Given the description of an element on the screen output the (x, y) to click on. 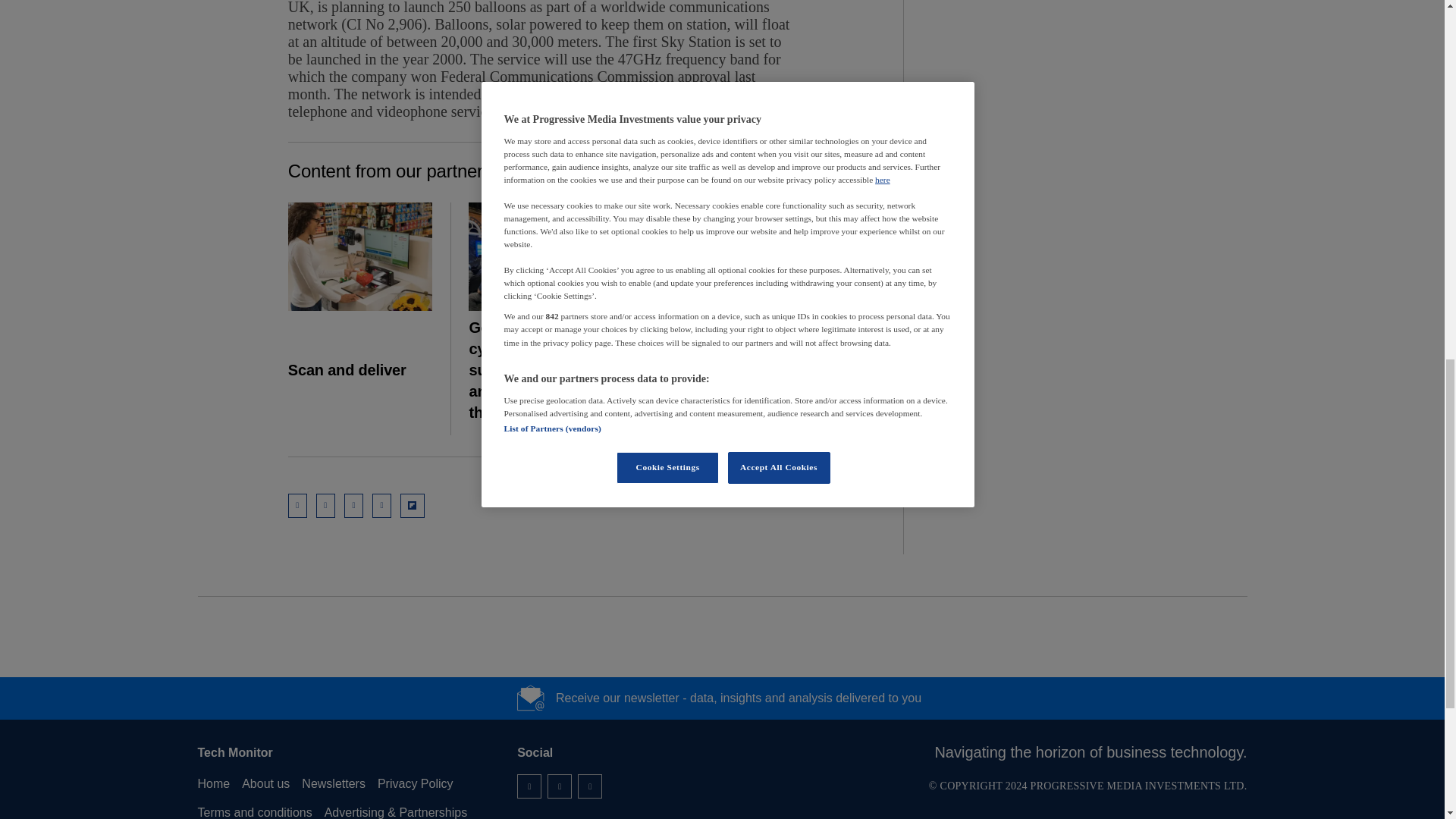
Scan and deliver (360, 256)
